Given the description of an element on the screen output the (x, y) to click on. 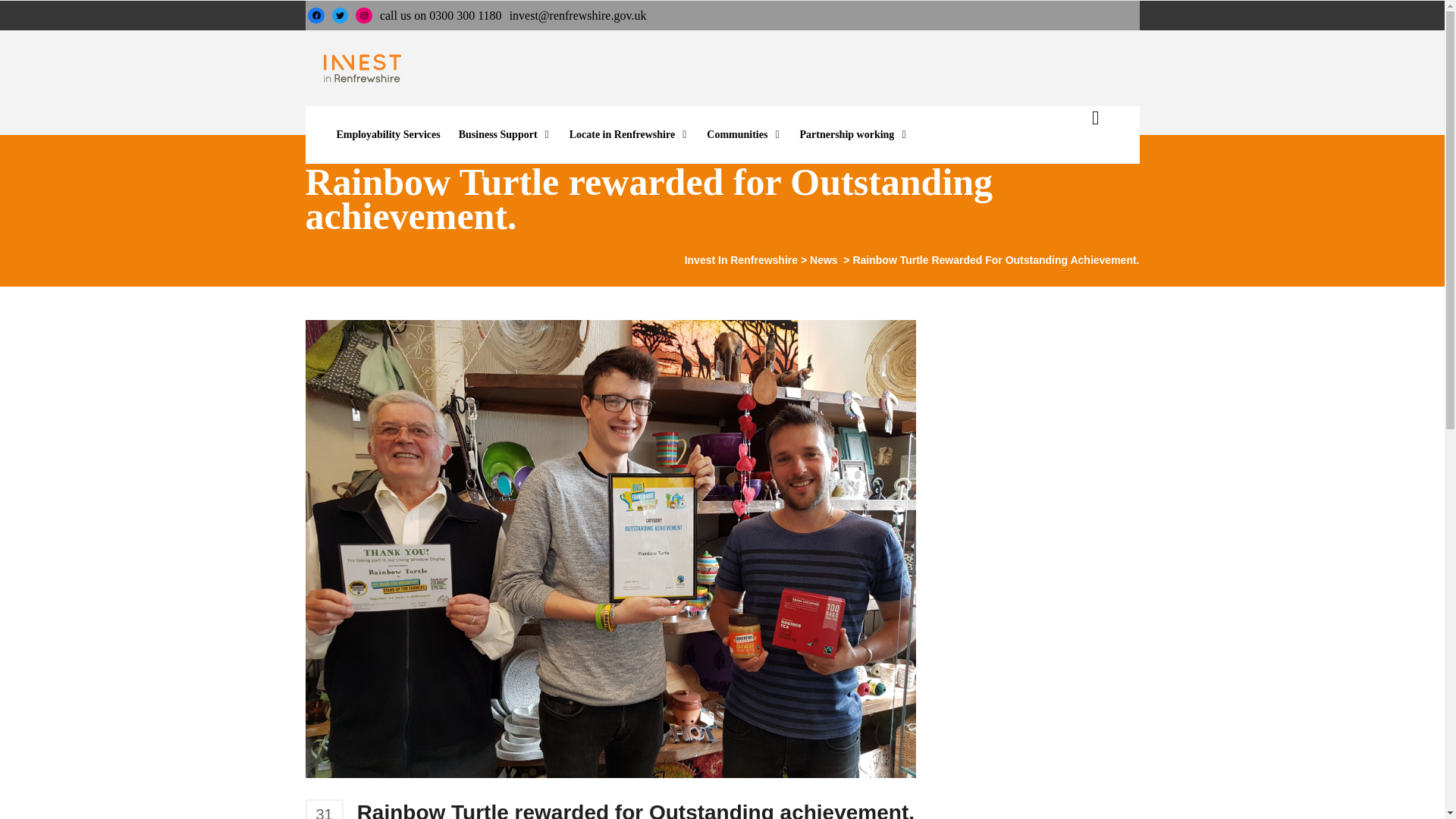
Partnership working (853, 134)
Communities (743, 134)
Employability Services (387, 134)
Business Support (505, 134)
Locate in Renfrewshire (629, 134)
